Given the description of an element on the screen output the (x, y) to click on. 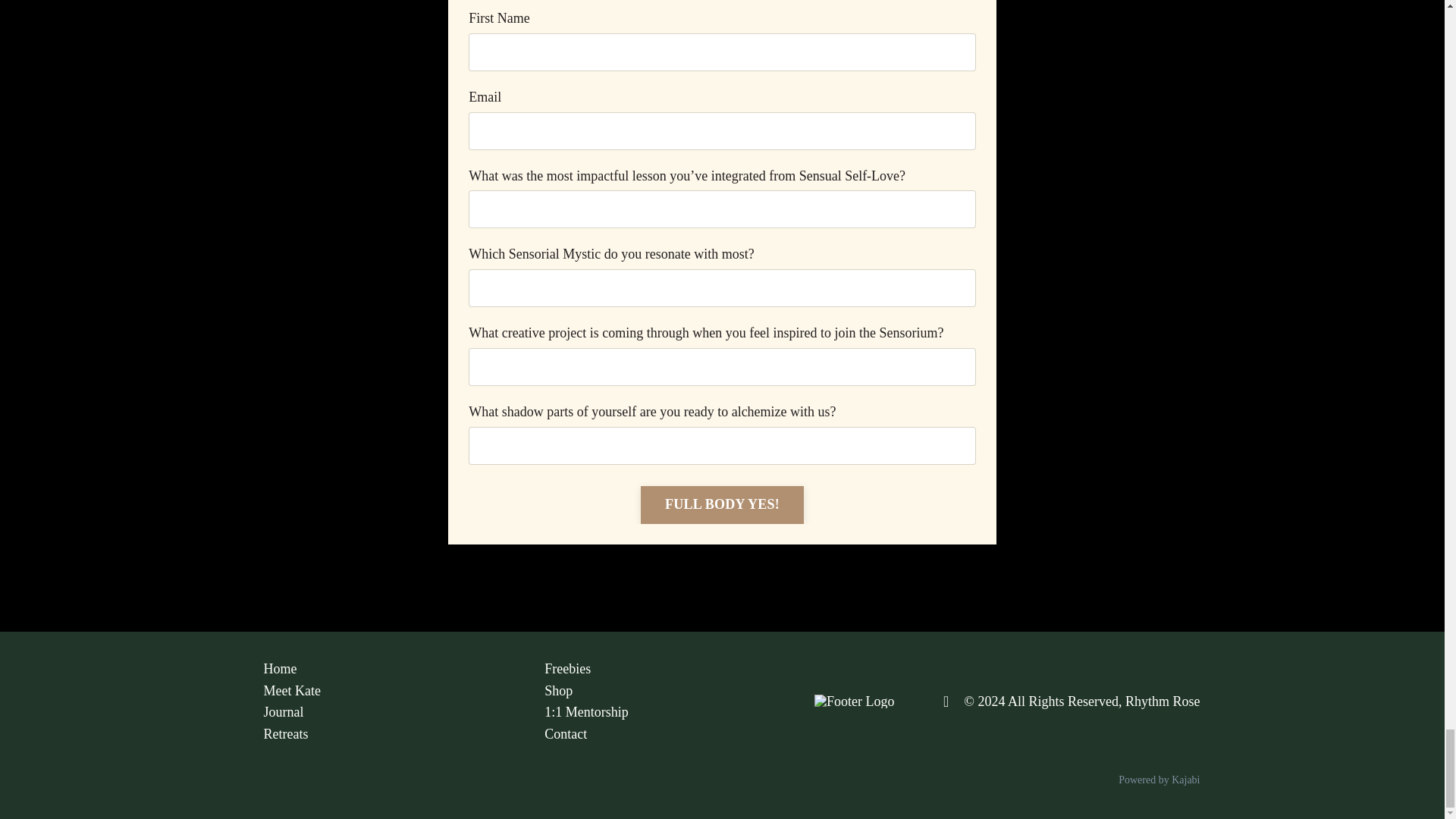
1:1 Mentorship (665, 712)
Shop (665, 690)
Retreats (384, 734)
FULL BODY YES! (721, 505)
Powered by Kajabi (1158, 779)
Meet Kate (384, 690)
Journal (384, 712)
Freebies (665, 669)
Home (384, 669)
Contact (665, 734)
